Given the description of an element on the screen output the (x, y) to click on. 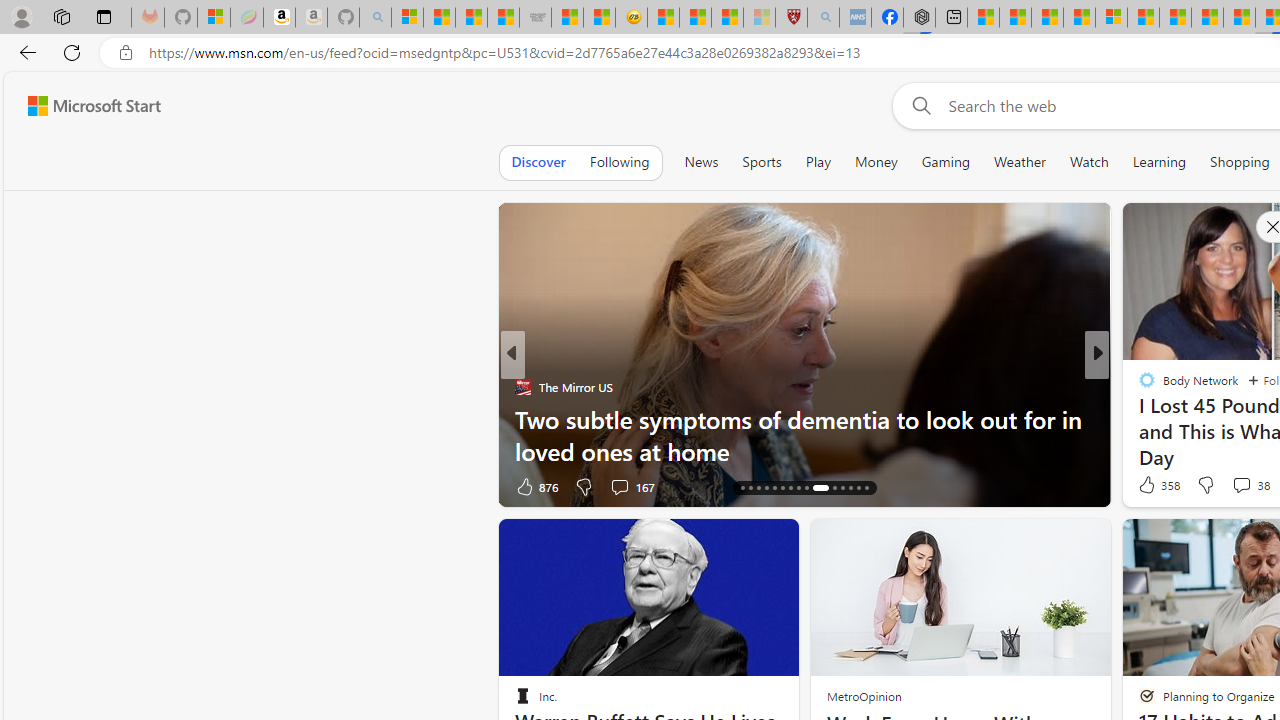
View comments 4 Comment (1229, 485)
MSNBC - MSN (471, 17)
AutomationID: tab-23 (797, 487)
Microsoft Start (1142, 17)
Parade (522, 386)
38 Like (1149, 486)
Combat Siege (535, 17)
Moneywise (1138, 386)
Sports (761, 161)
